Given the description of an element on the screen output the (x, y) to click on. 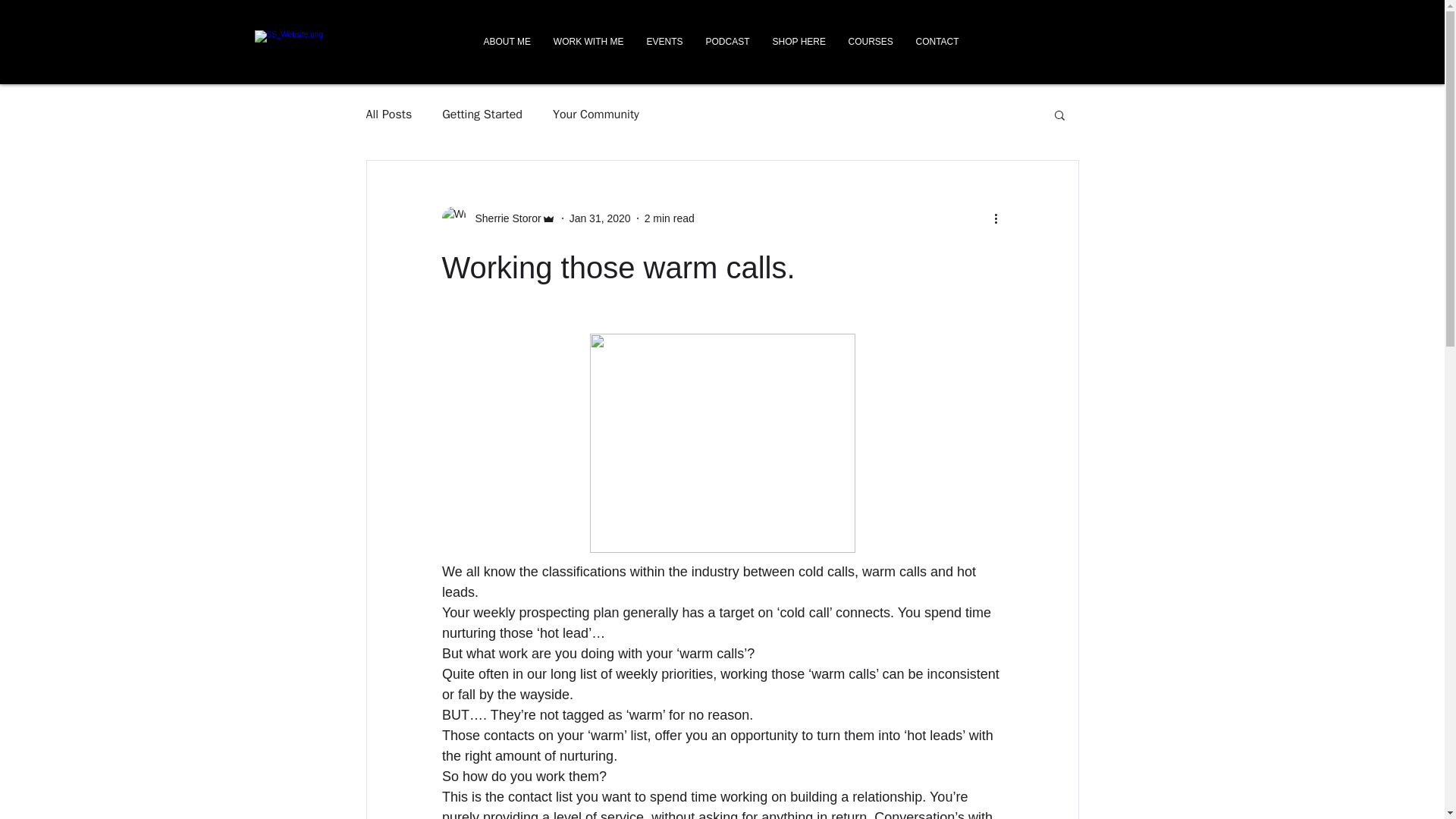
ABOUT ME (506, 41)
2 min read (669, 218)
All Posts (388, 114)
Your Community (596, 114)
Jan 31, 2020 (599, 218)
Getting Started (482, 114)
EVENTS (664, 41)
CONTACT (936, 41)
Sherrie Storor (502, 218)
WORK WITH ME (587, 41)
